Given the description of an element on the screen output the (x, y) to click on. 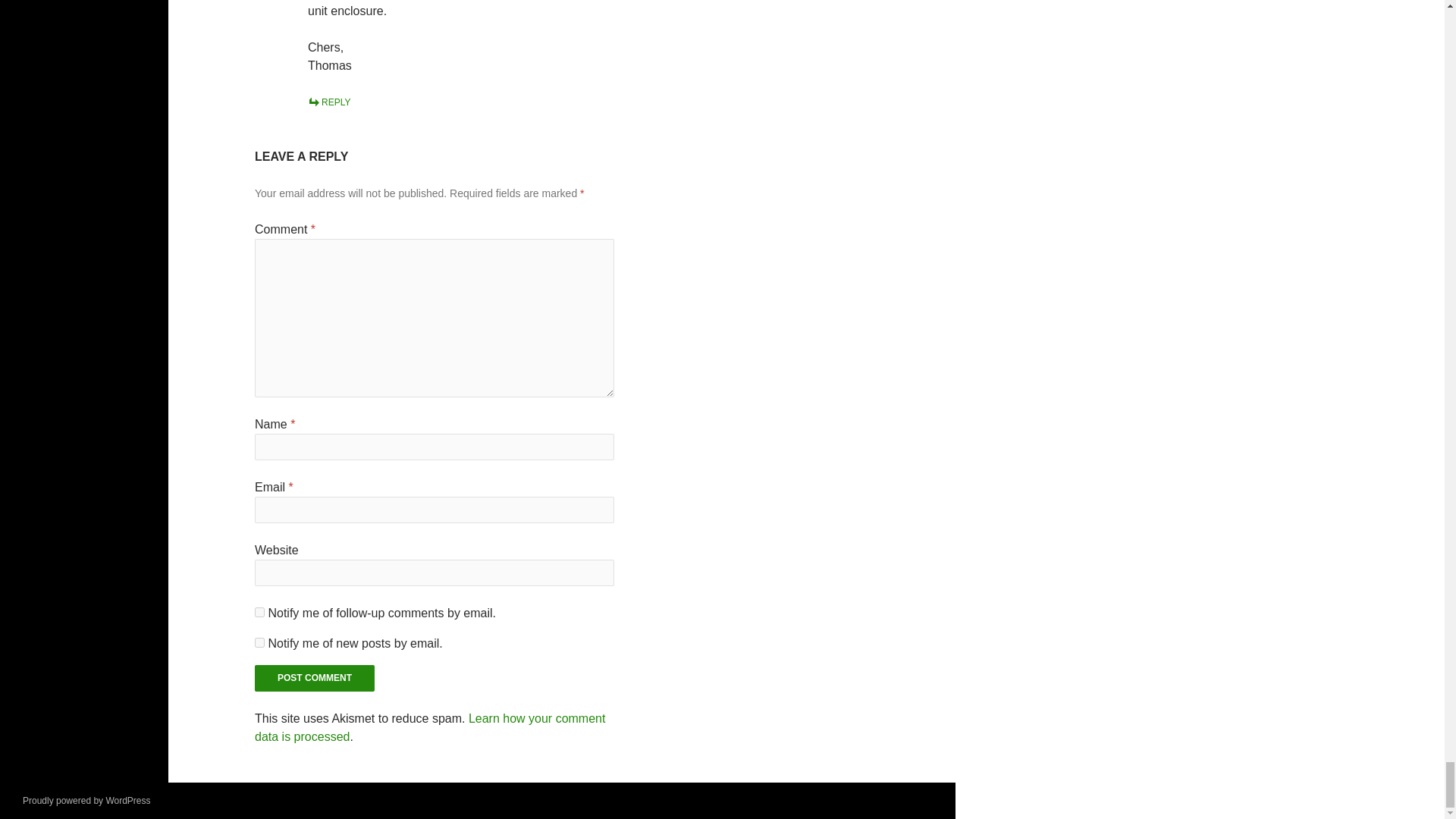
subscribe (259, 642)
subscribe (259, 612)
Post Comment (314, 678)
